Given the description of an element on the screen output the (x, y) to click on. 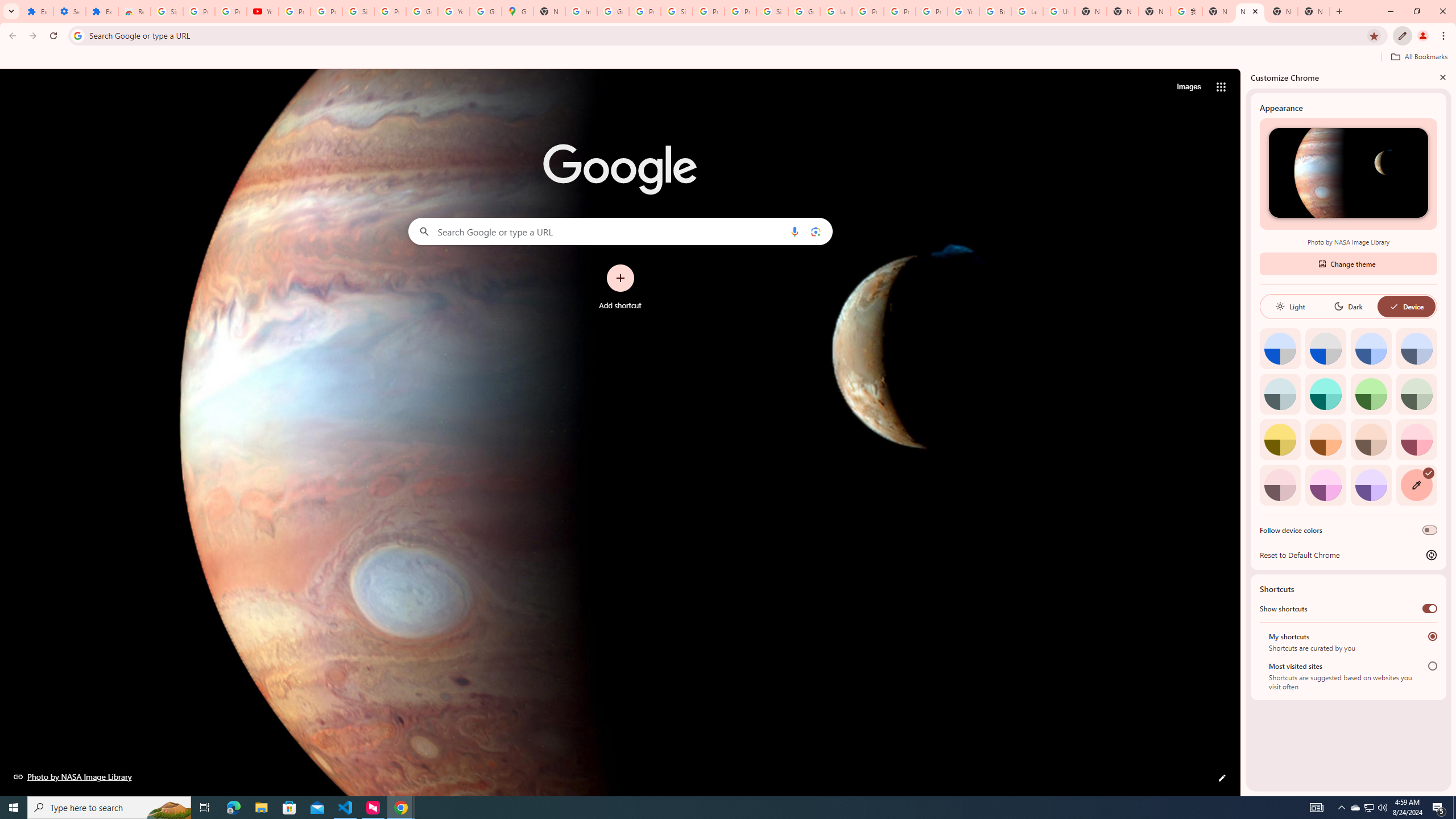
My shortcuts (1432, 636)
Bookmarks (728, 58)
All Bookmarks (1418, 56)
Device (1406, 305)
Default color (1279, 348)
Light (1289, 305)
YouTube (453, 11)
Show shortcuts (1429, 608)
Orange (1325, 439)
